Given the description of an element on the screen output the (x, y) to click on. 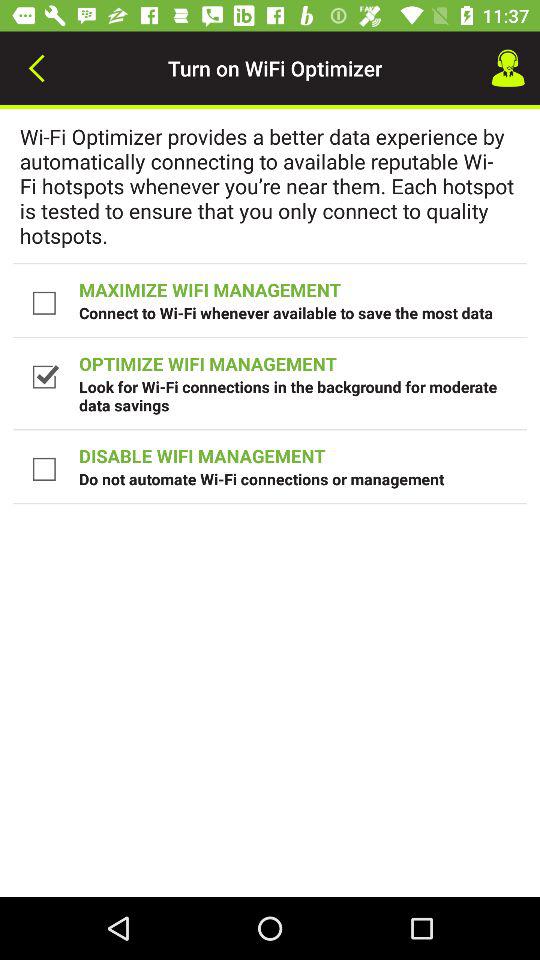
turn off the icon next to maximize wifi management item (46, 302)
